Given the description of an element on the screen output the (x, y) to click on. 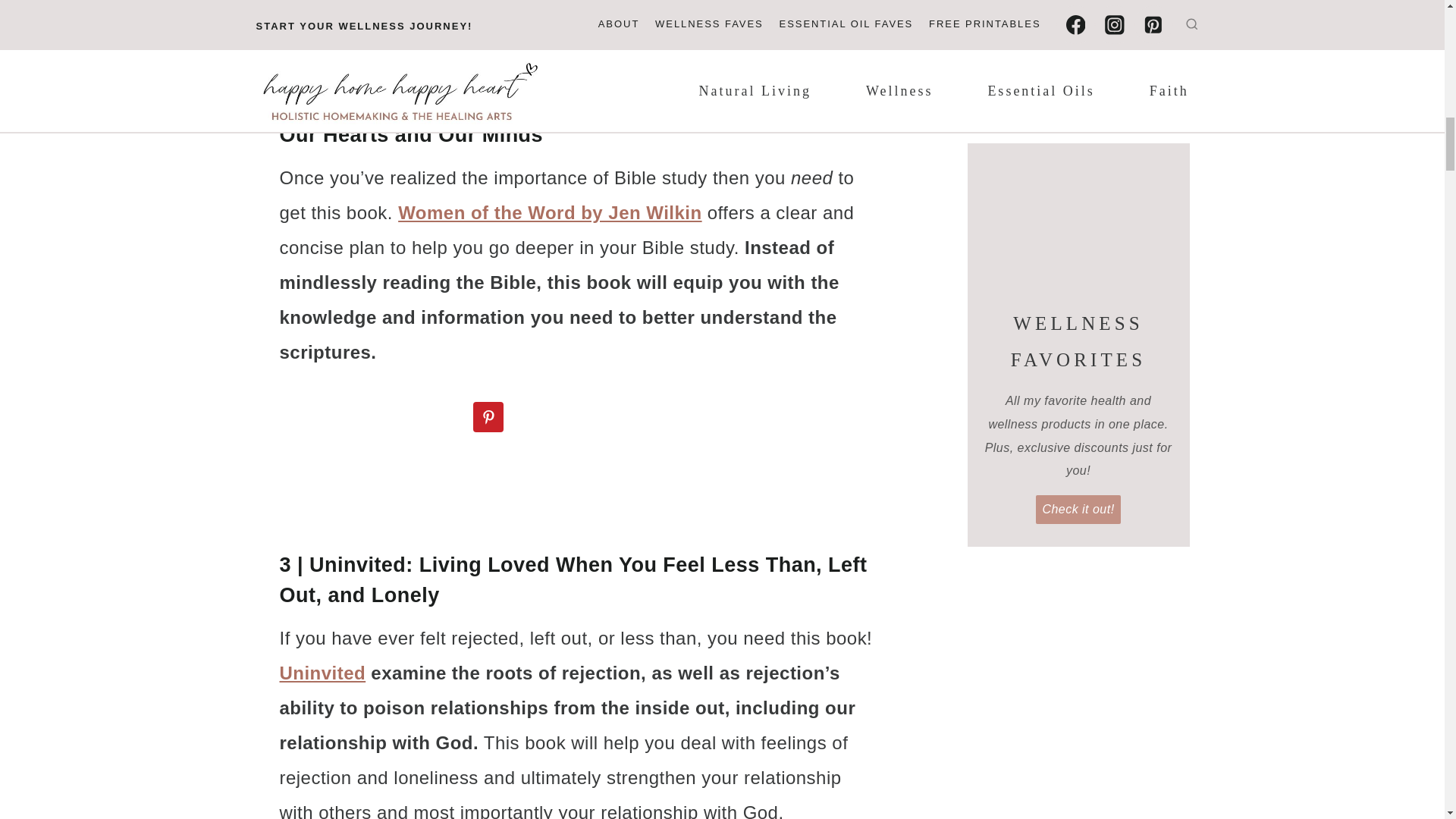
Uninvited (322, 672)
Women of the Word by Jen Wilkin (549, 212)
